Given the description of an element on the screen output the (x, y) to click on. 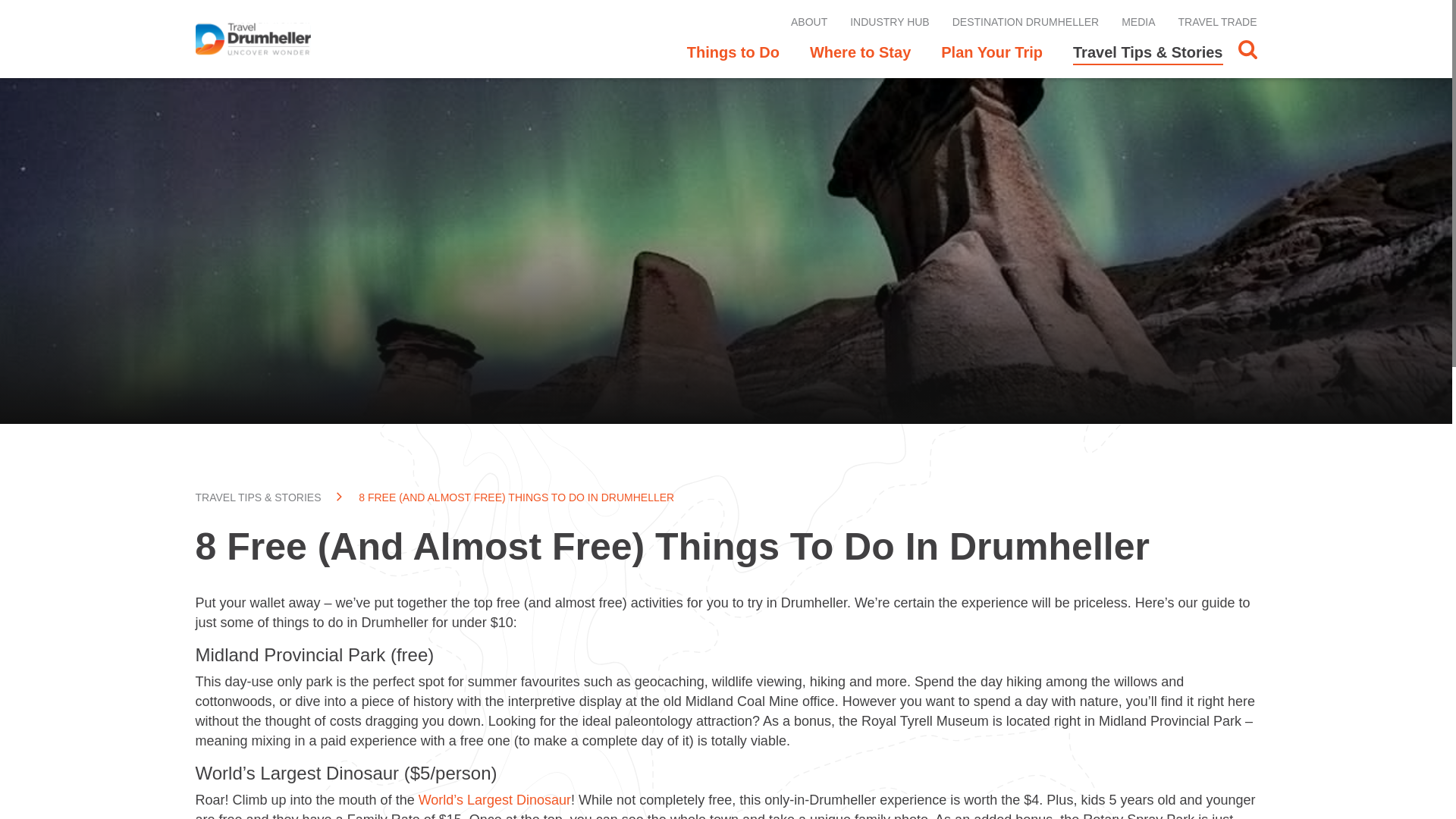
Things to Do (740, 52)
Things to Do (740, 52)
Where to Stay (860, 52)
Where to Stay (860, 52)
Travel Drumheller (253, 38)
Plan Your Trip (992, 52)
Plan Your Trip (992, 52)
